Given the description of an element on the screen output the (x, y) to click on. 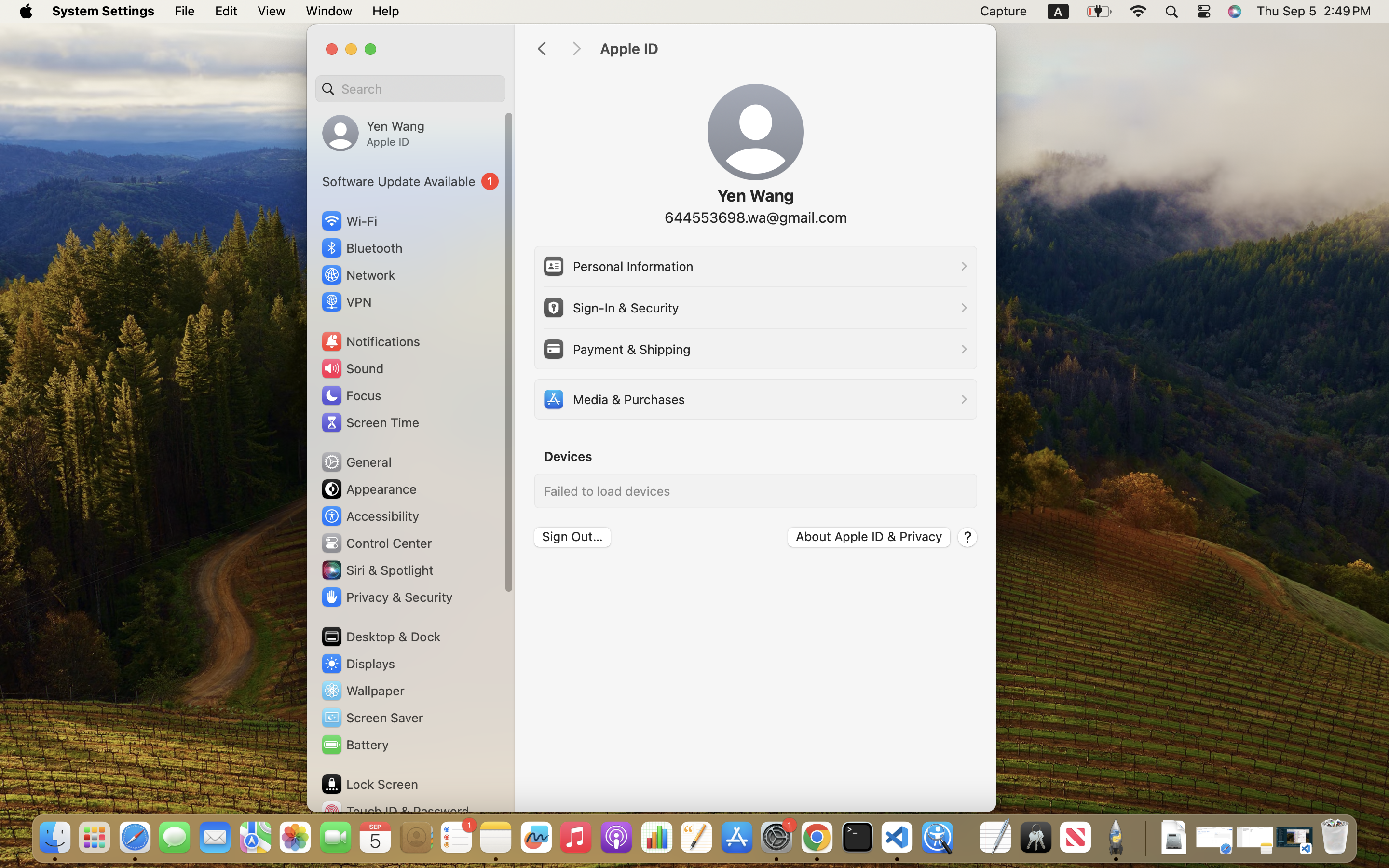
Yen Wang, Apple ID Element type: AXStaticText (373, 132)
Yen Wang Element type: AXStaticText (754, 195)
Wallpaper Element type: AXStaticText (362, 690)
Accessibility Element type: AXStaticText (369, 515)
Privacy & Security Element type: AXStaticText (386, 596)
